Given the description of an element on the screen output the (x, y) to click on. 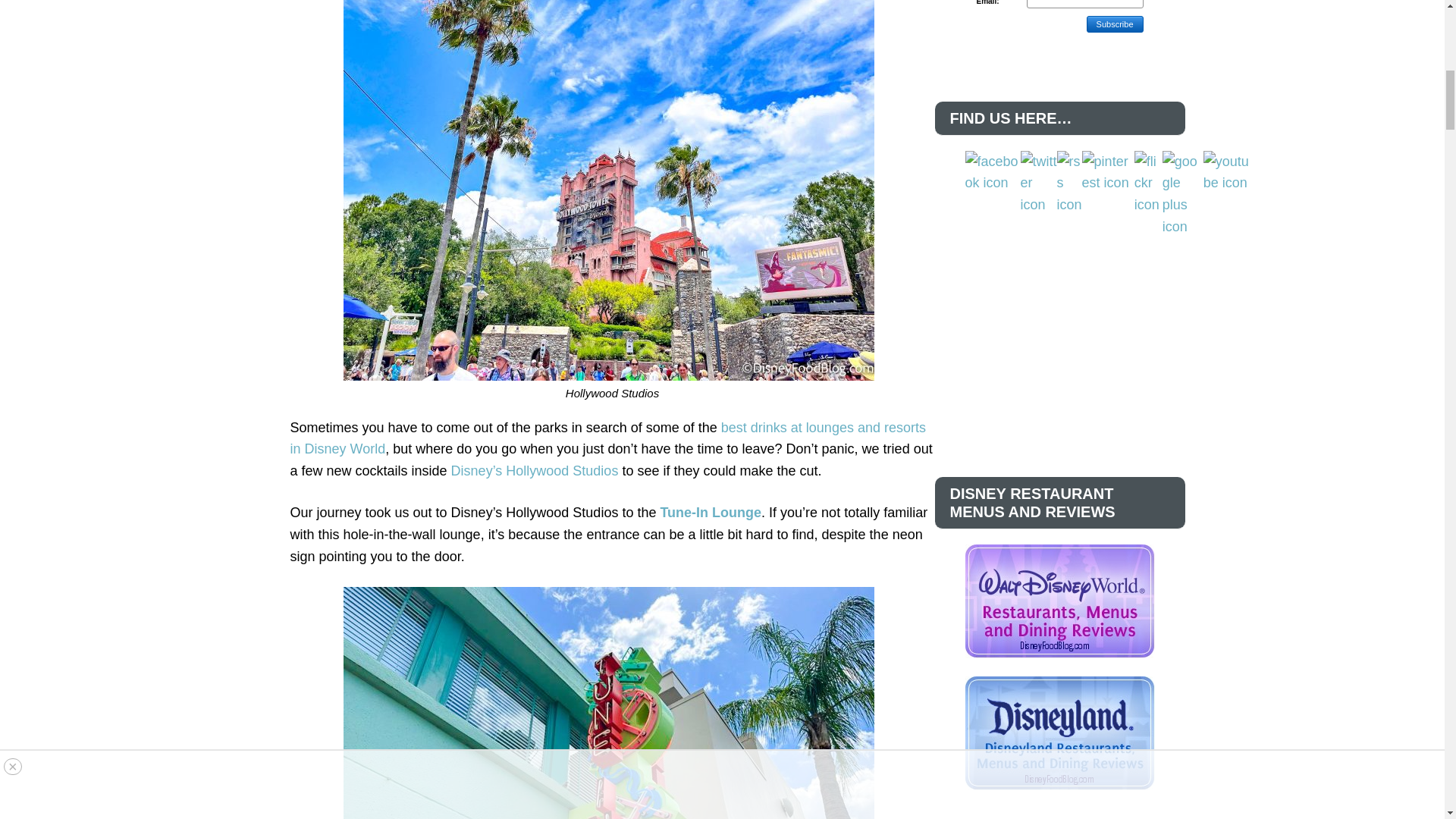
Subscribe (1114, 23)
